Given the description of an element on the screen output the (x, y) to click on. 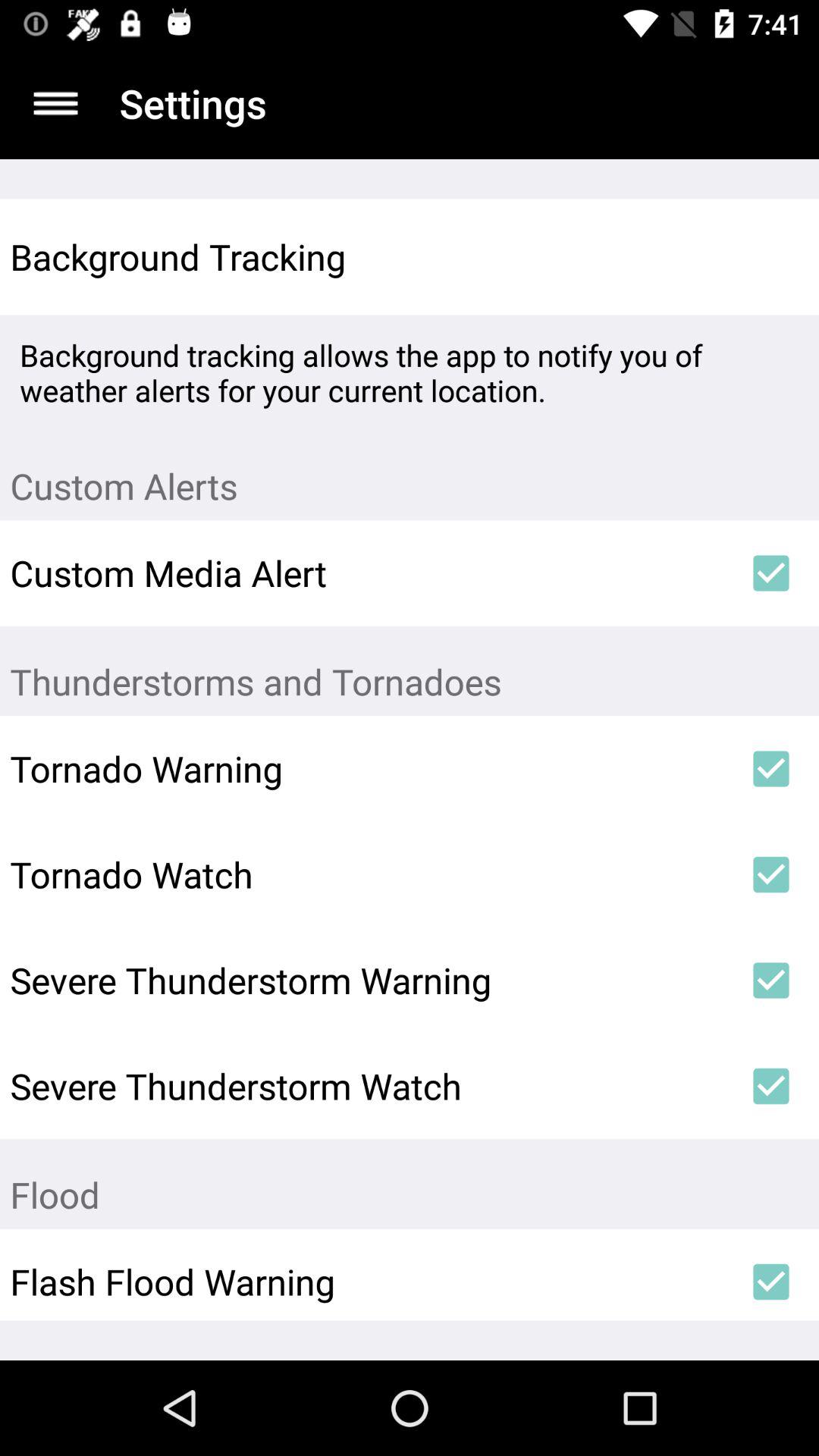
select icon above flood (771, 1086)
